Given the description of an element on the screen output the (x, y) to click on. 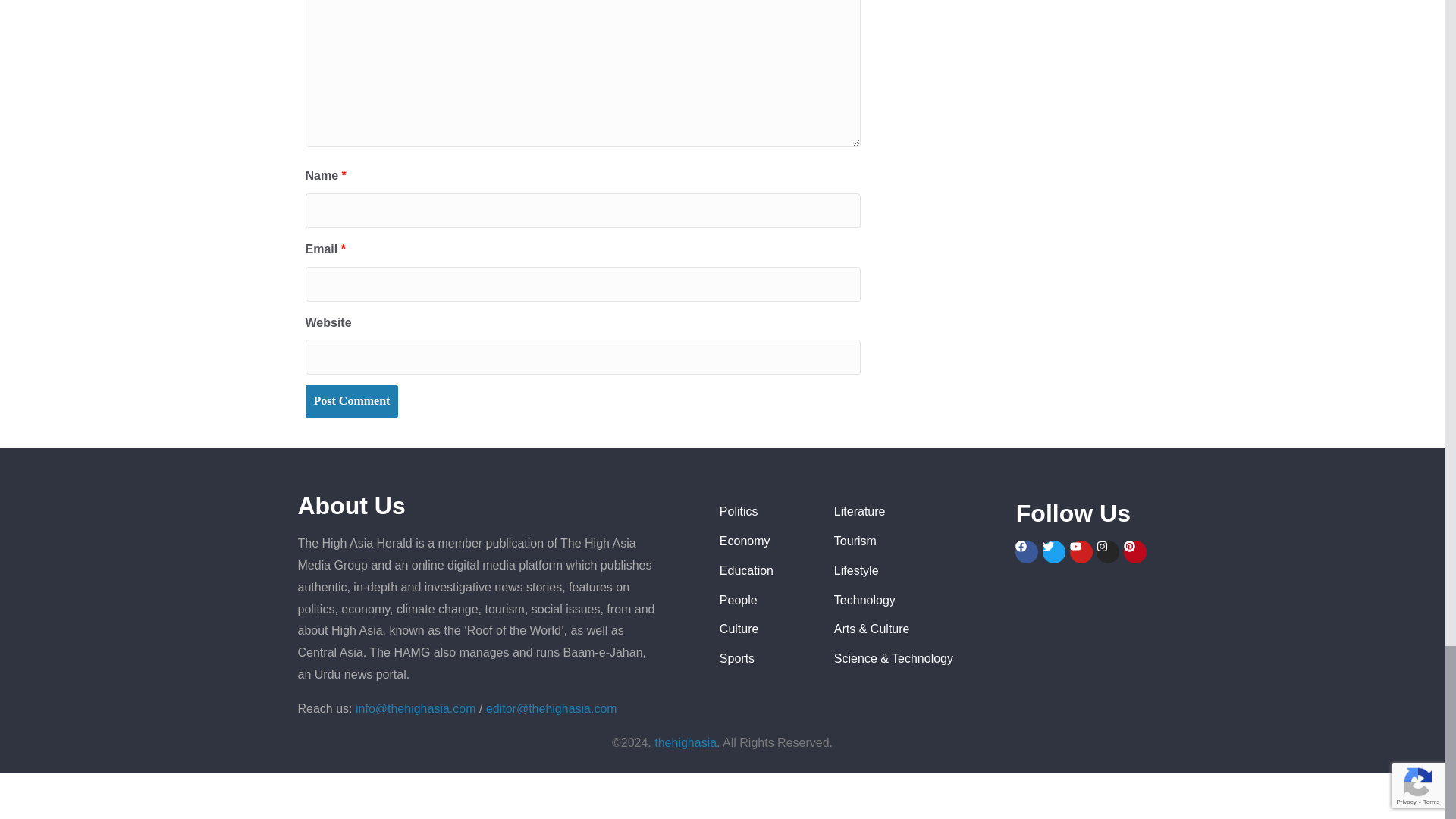
Tourism (917, 541)
Economy (764, 541)
Post Comment (350, 400)
Sports (764, 659)
Education (764, 571)
Post Comment (350, 400)
People (764, 600)
Politics (764, 512)
Technology (917, 600)
Literature (917, 512)
Lifestyle (917, 571)
Culture (764, 629)
